Given the description of an element on the screen output the (x, y) to click on. 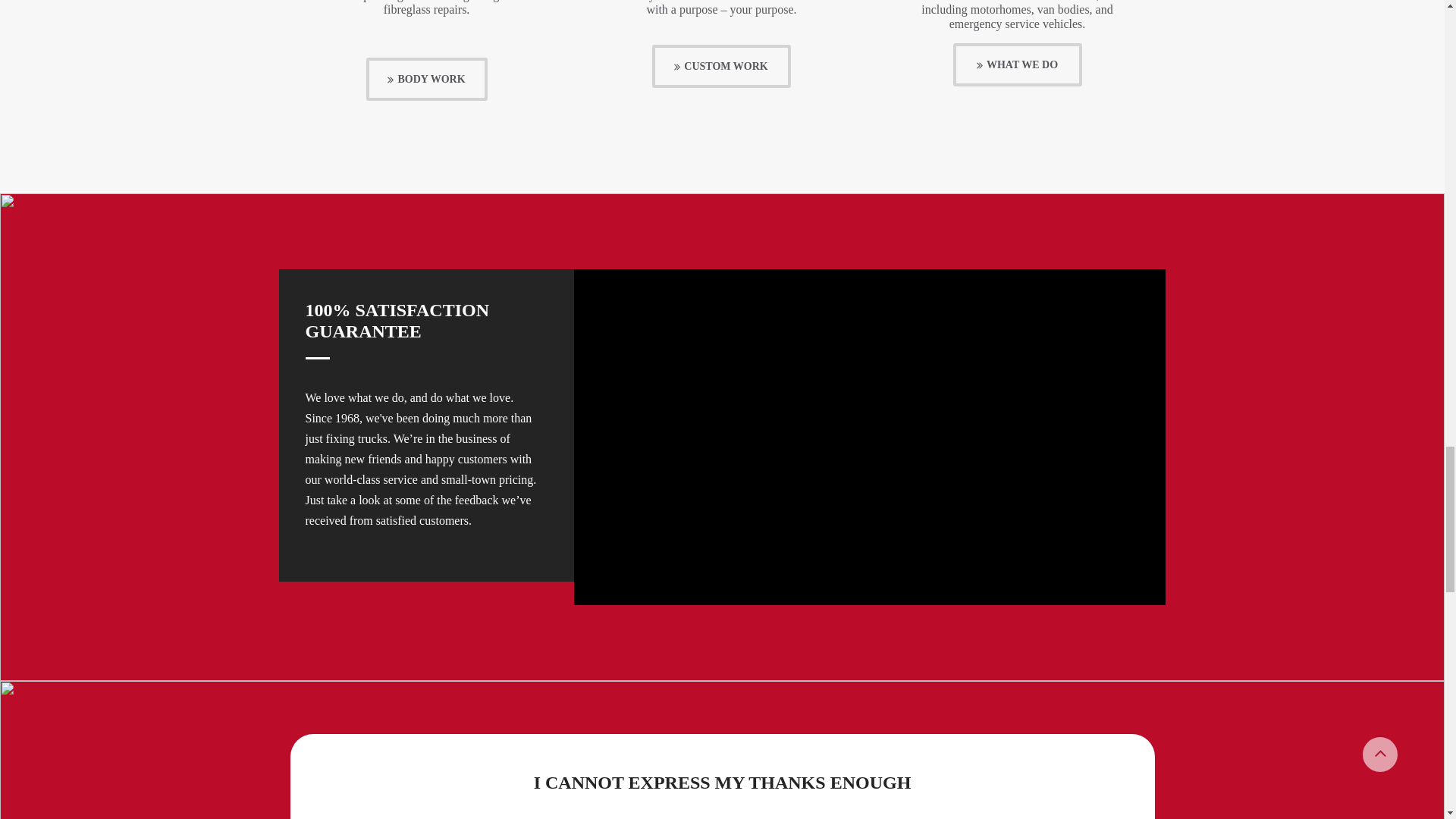
BODY WORK (425, 78)
CUSTOM WORK (721, 66)
WHAT WE DO (1016, 64)
